Given the description of an element on the screen output the (x, y) to click on. 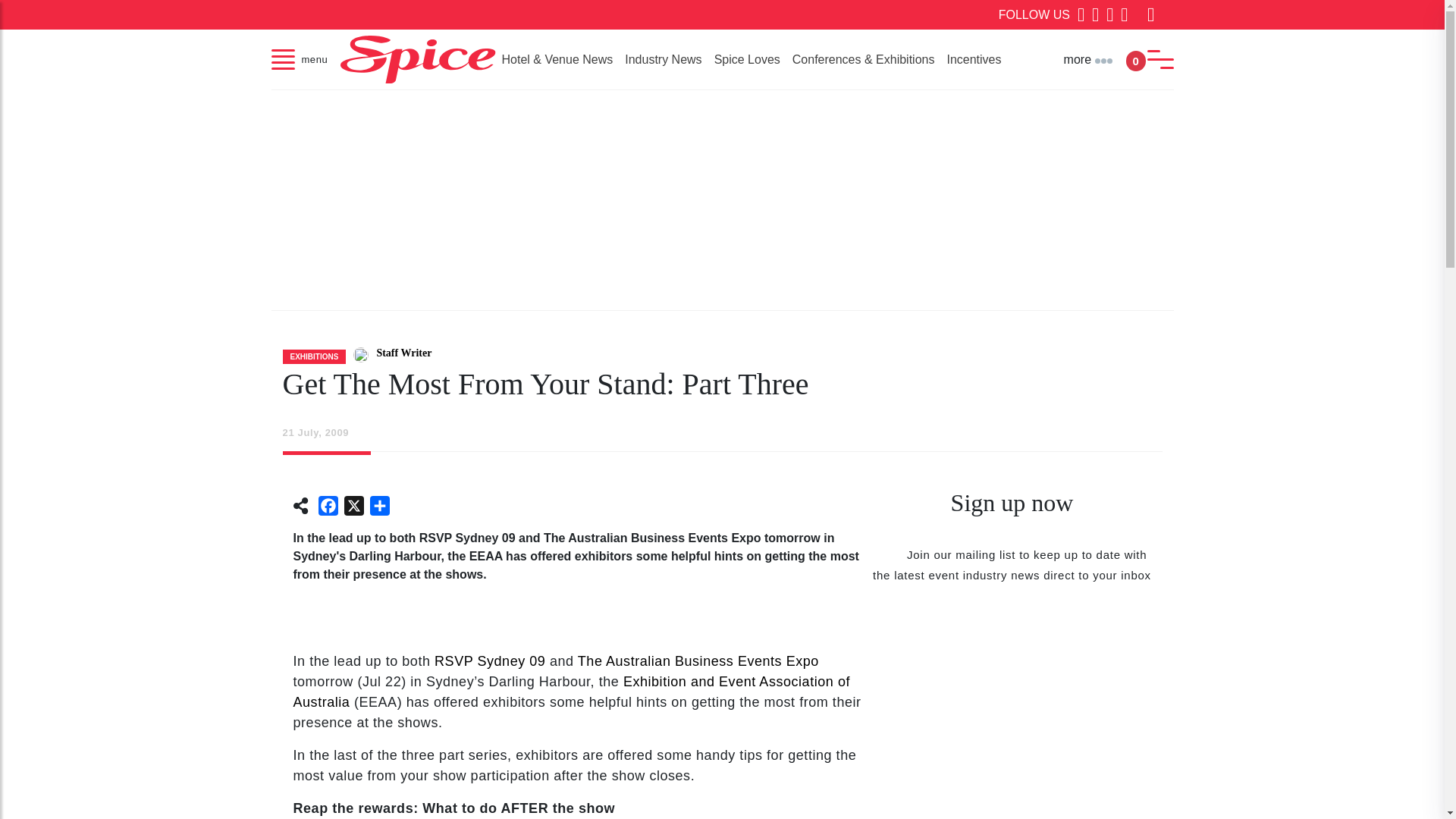
Incentives (973, 59)
Form 0 (1011, 718)
Spice Loves (746, 59)
Industry News (662, 59)
Incentives (973, 59)
X (353, 508)
Facebook (327, 508)
